Given the description of an element on the screen output the (x, y) to click on. 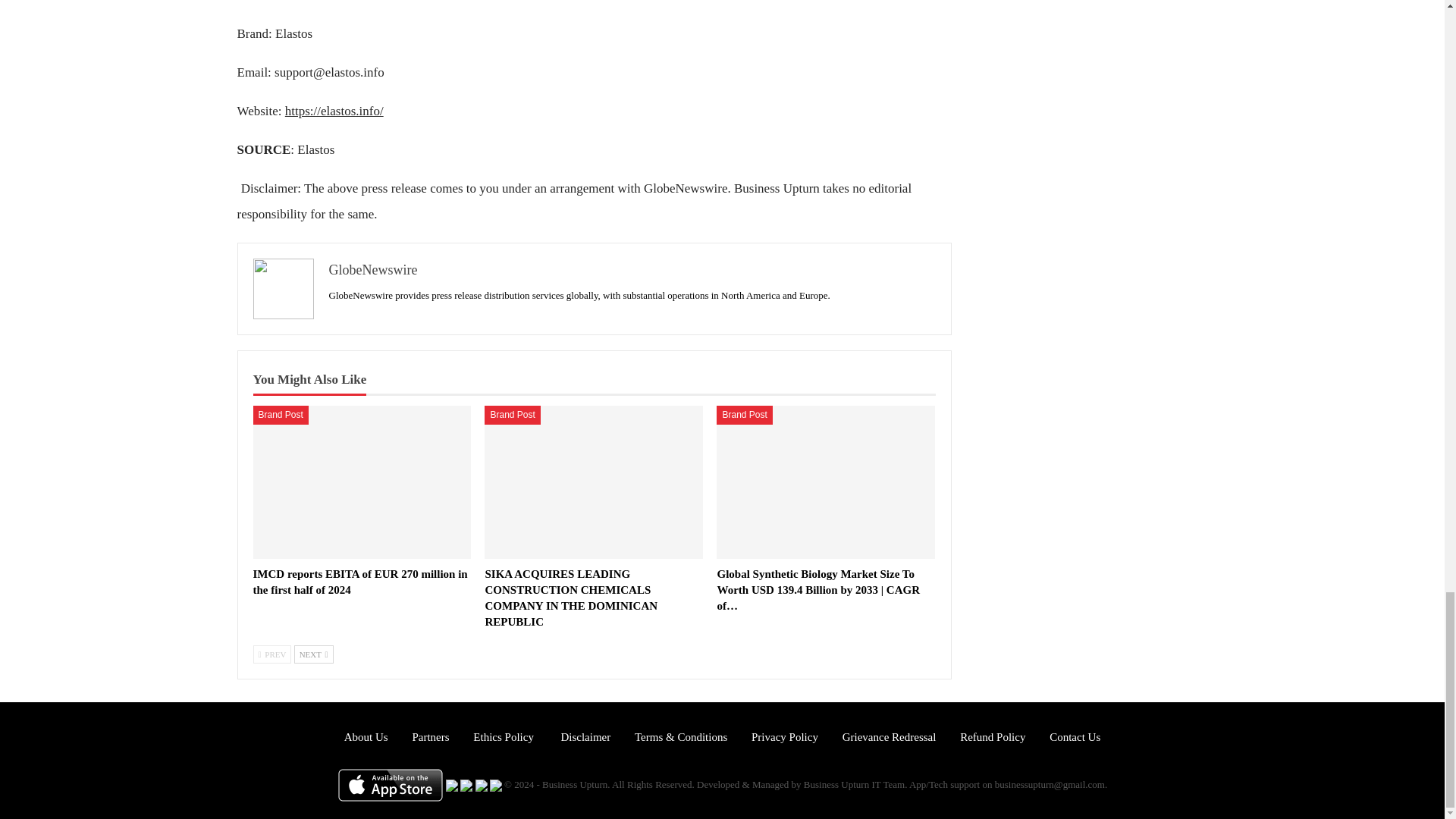
Previous (272, 654)
Next (313, 654)
